Given the description of an element on the screen output the (x, y) to click on. 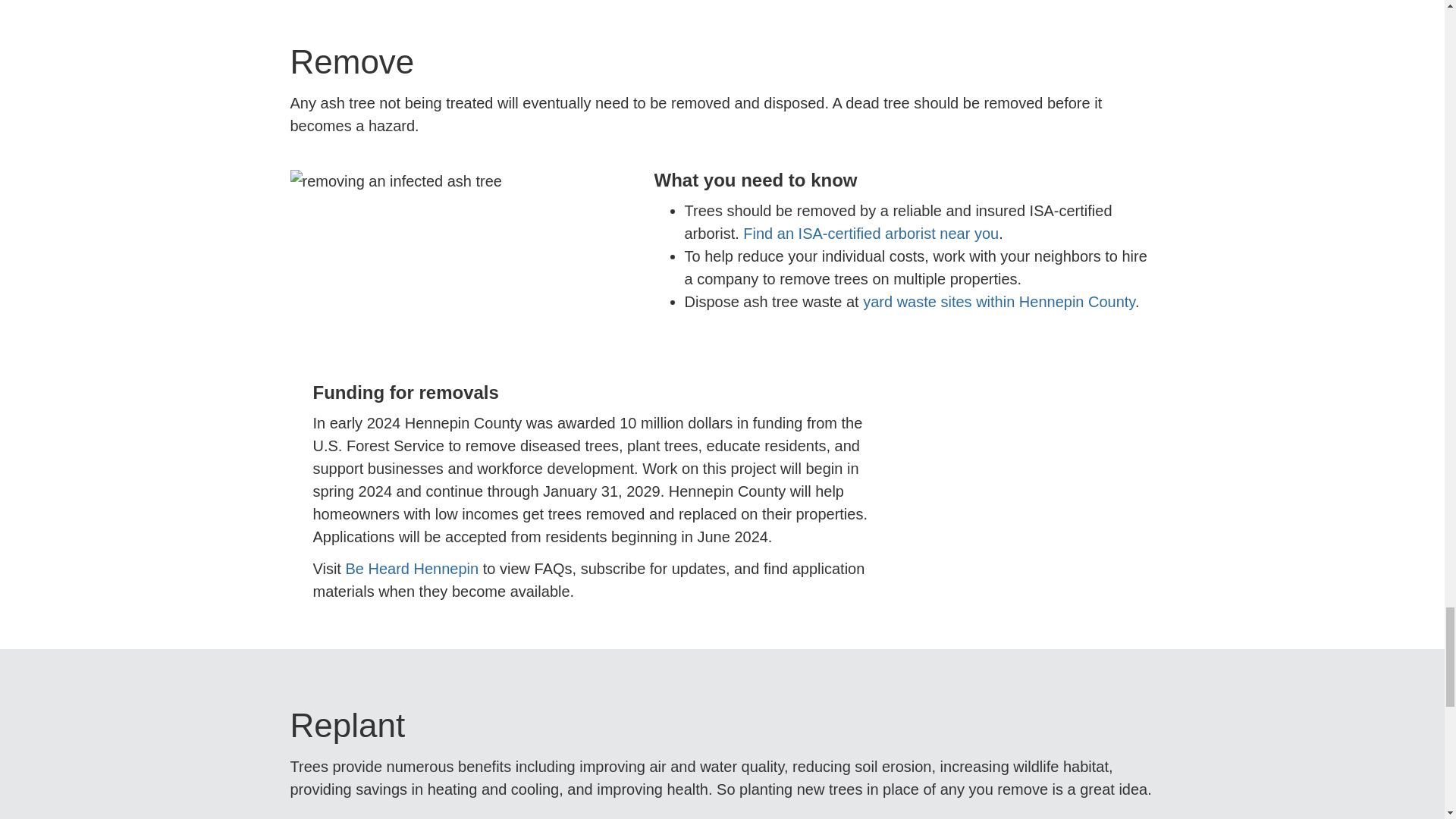
Be Heard Hennepin (412, 568)
yard waste sites within Hennepin County (999, 301)
Find an ISA-certified arborist near you (870, 233)
